Given the description of an element on the screen output the (x, y) to click on. 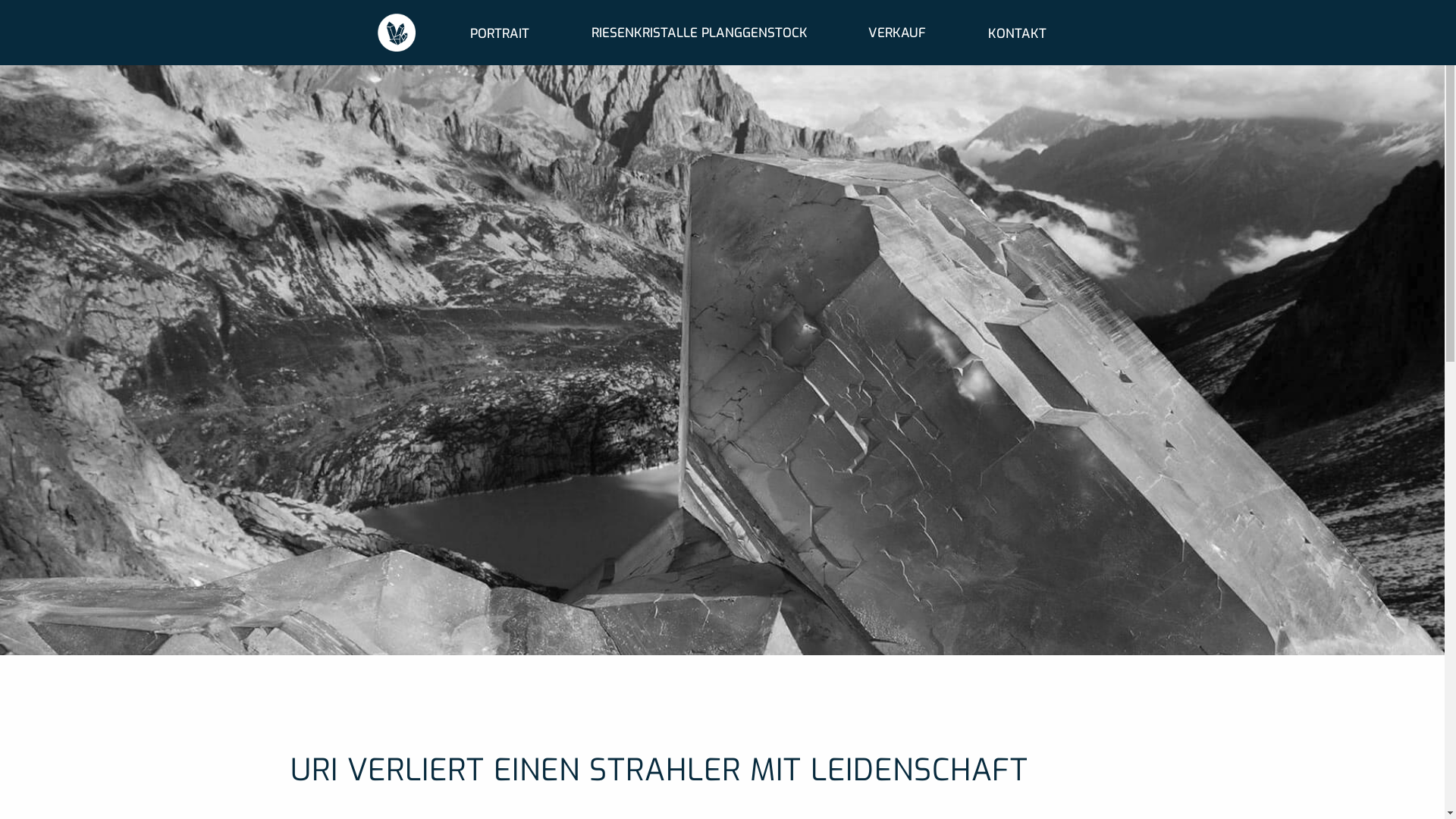
VERKAUF Element type: text (896, 32)
RIESENKRISTALLE PLANGGENSTOCK Element type: text (699, 32)
PORTRAIT Element type: text (499, 33)
KONTAKT Element type: text (1016, 33)
